Given the description of an element on the screen output the (x, y) to click on. 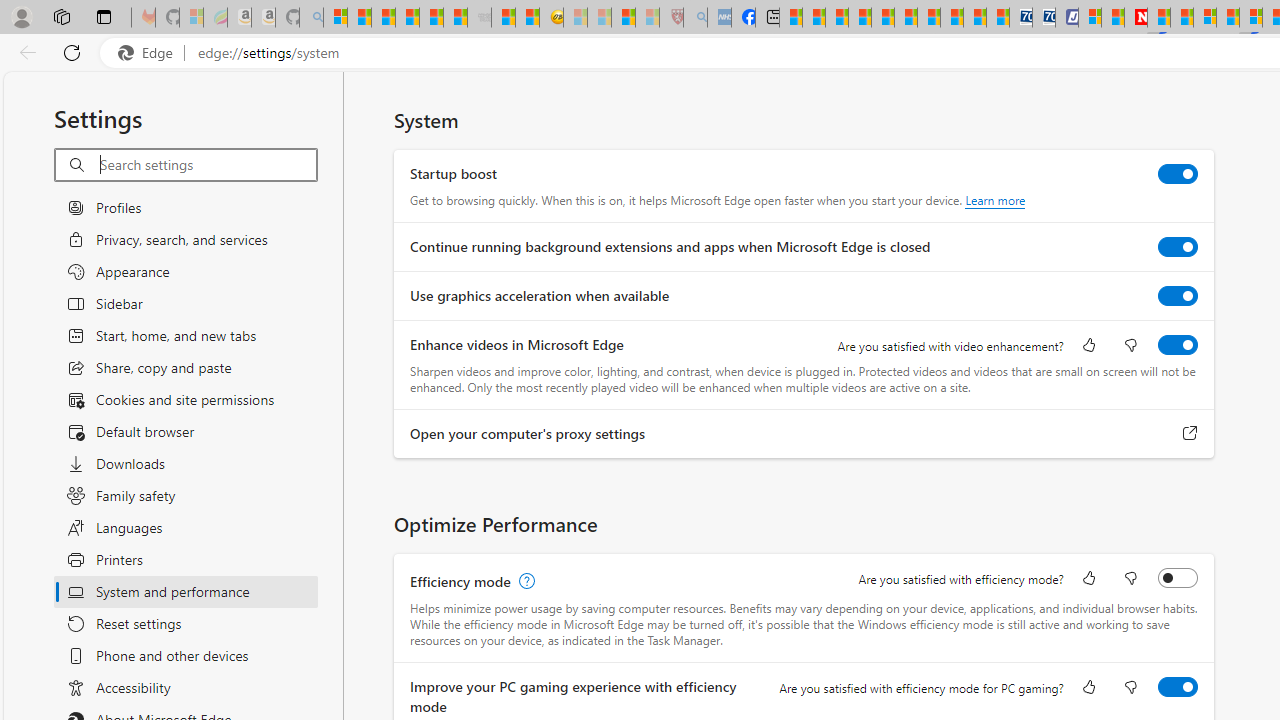
Cheap Hotels - Save70.com (1043, 17)
Latest Politics News & Archive | Newsweek.com (1135, 17)
Like (1089, 688)
The Weather Channel - MSN (383, 17)
Edge (150, 53)
